Given the description of an element on the screen output the (x, y) to click on. 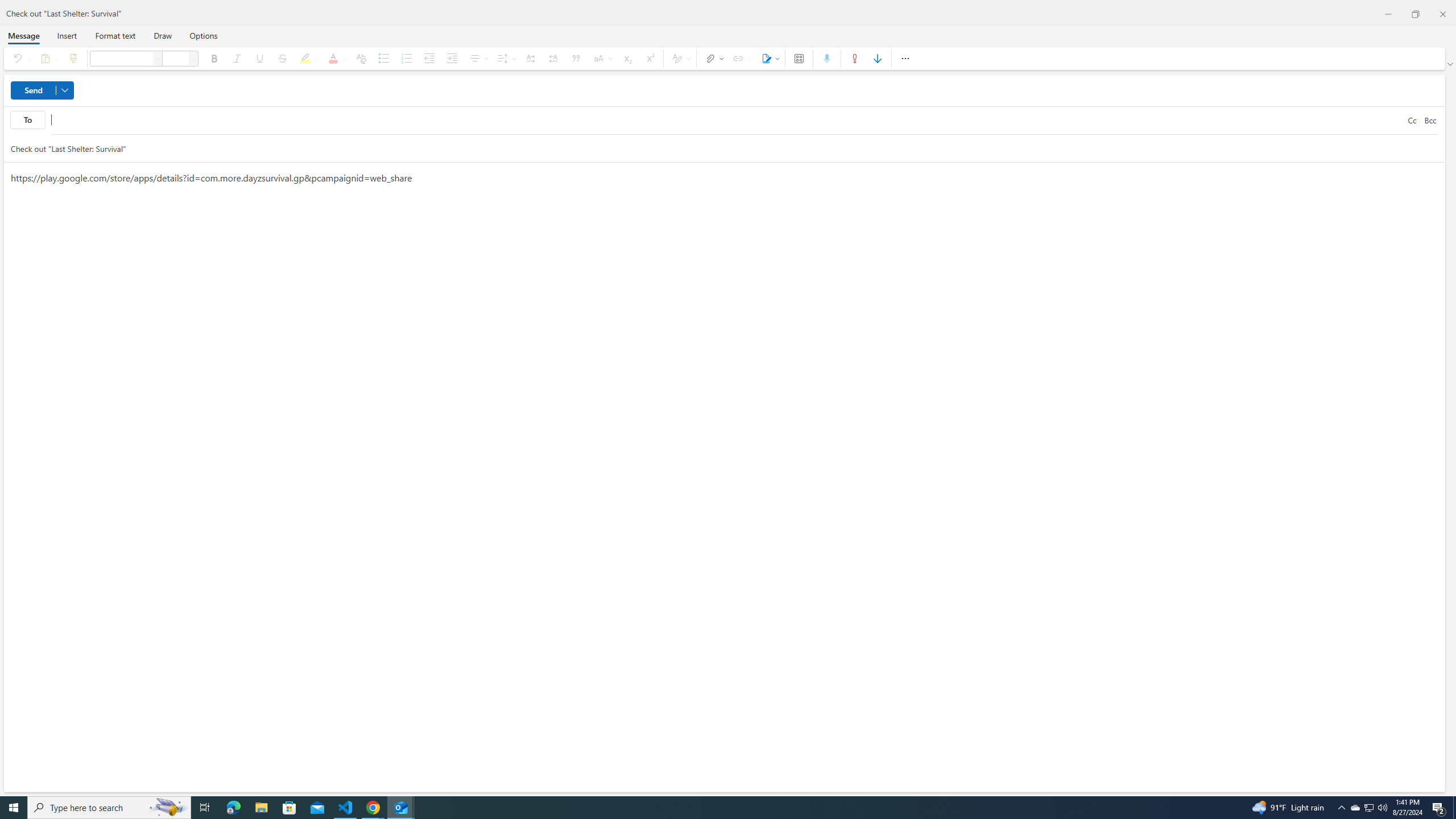
Add a subject (714, 148)
Ribbon display options (1450, 63)
Numbering (405, 58)
Message body, press Alt+F10 to exit (724, 476)
Format text (114, 35)
